Given the description of an element on the screen output the (x, y) to click on. 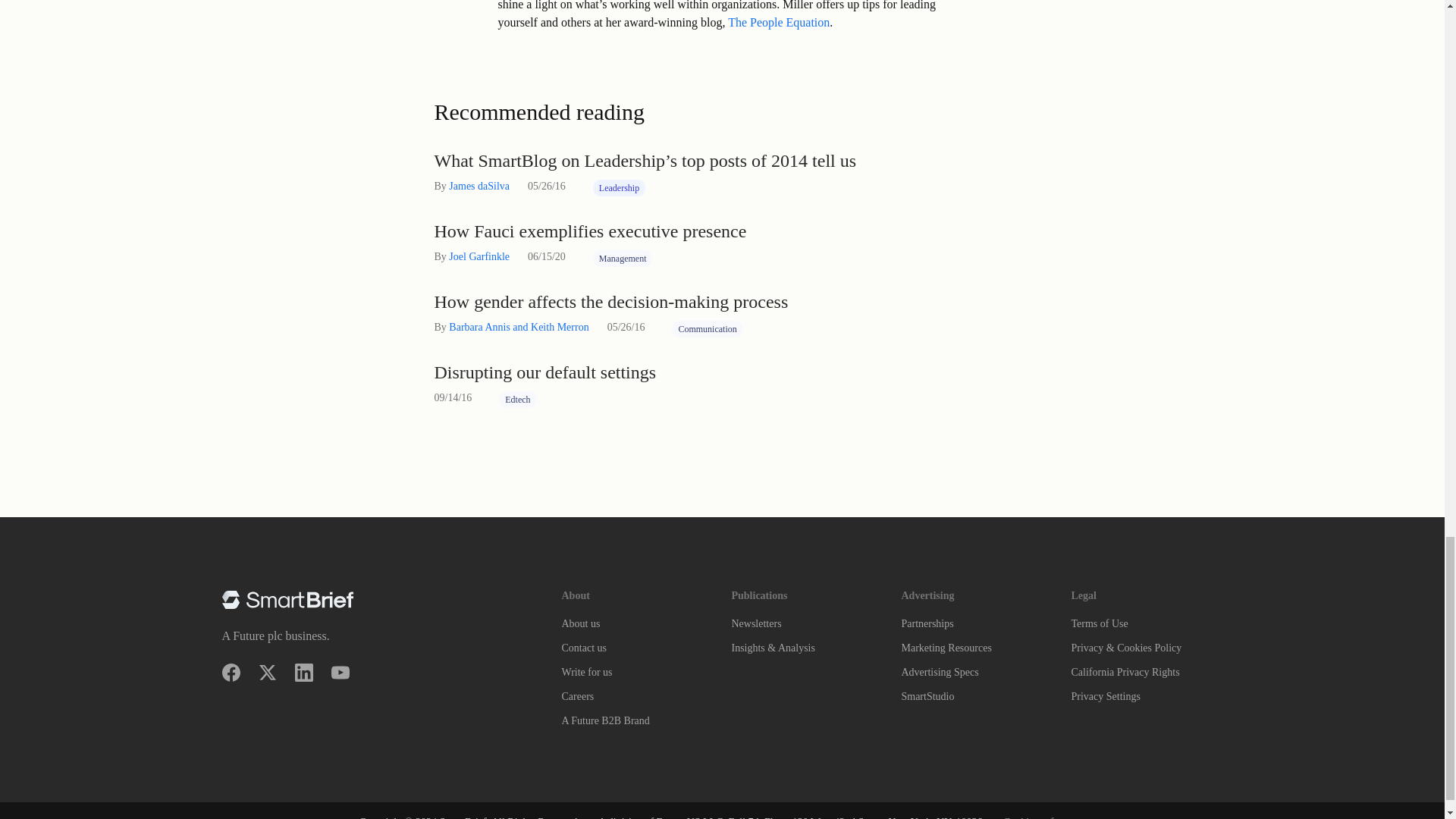
YouTube (339, 672)
LinkedIn (303, 672)
Facebook (230, 672)
The People Equation (778, 21)
James daSilva (478, 185)
